Given the description of an element on the screen output the (x, y) to click on. 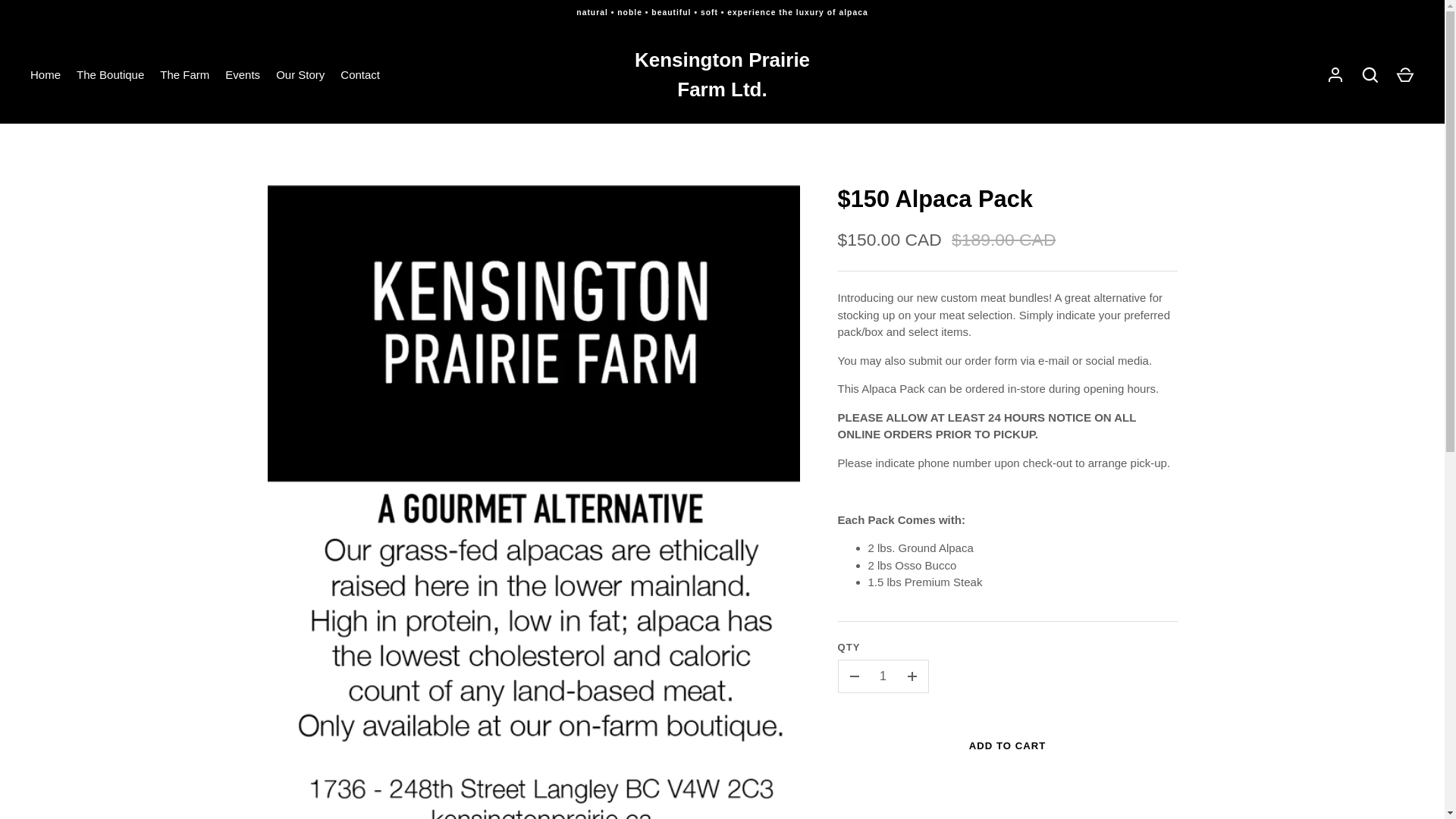
The Farm (184, 75)
Events (241, 75)
Contact (360, 75)
Our Story (300, 75)
Home (45, 75)
1 (883, 676)
The Boutique (110, 75)
